Given the description of an element on the screen output the (x, y) to click on. 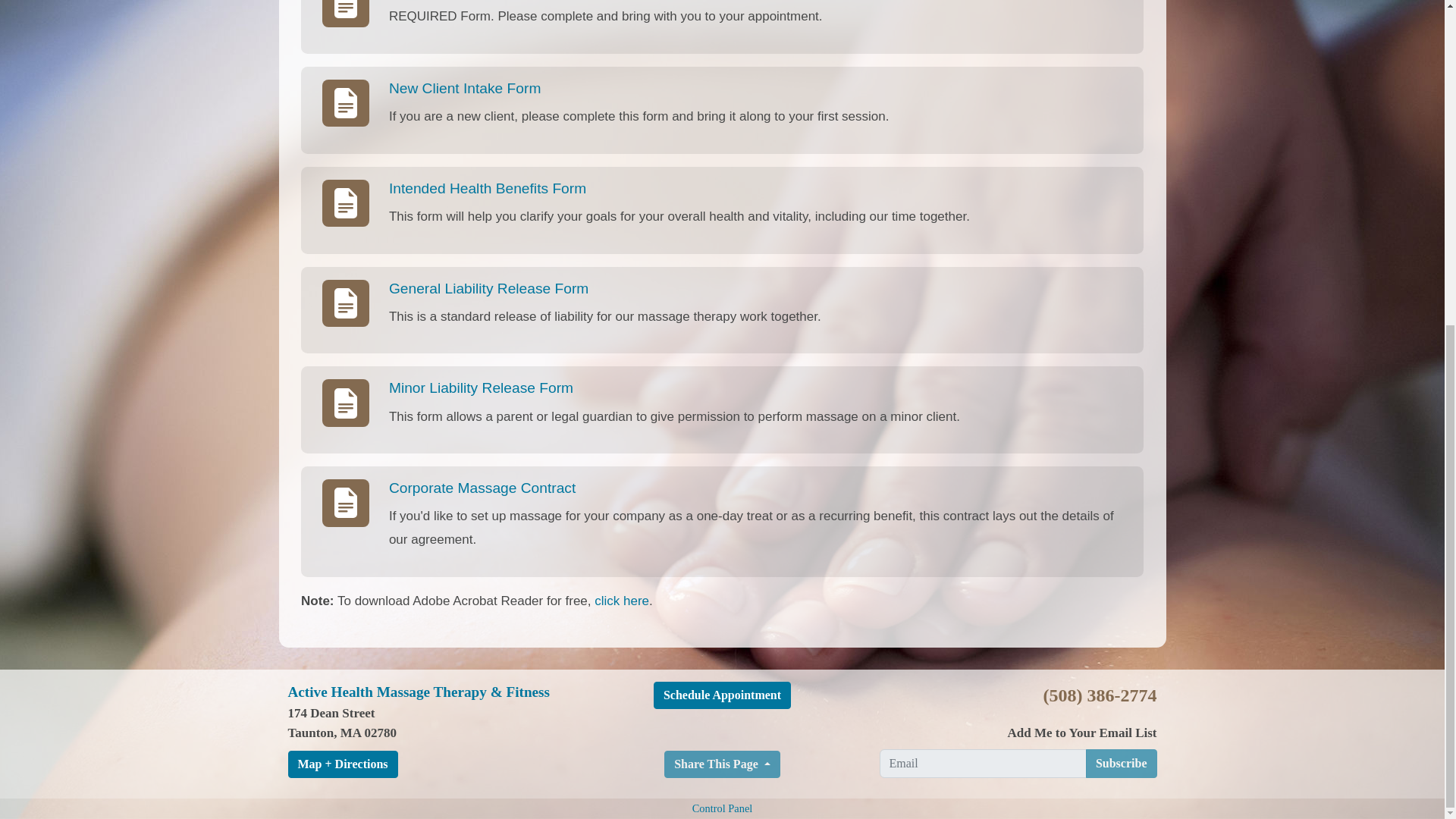
Minor Liability Release Form (480, 387)
Schedule Appointment (721, 695)
General Liability Release Form (488, 288)
New Client Intake Form (464, 88)
Intended Health Benefits Form (487, 188)
click here (621, 600)
Corporate Massage Contract (481, 487)
Share This Page (721, 764)
